Given the description of an element on the screen output the (x, y) to click on. 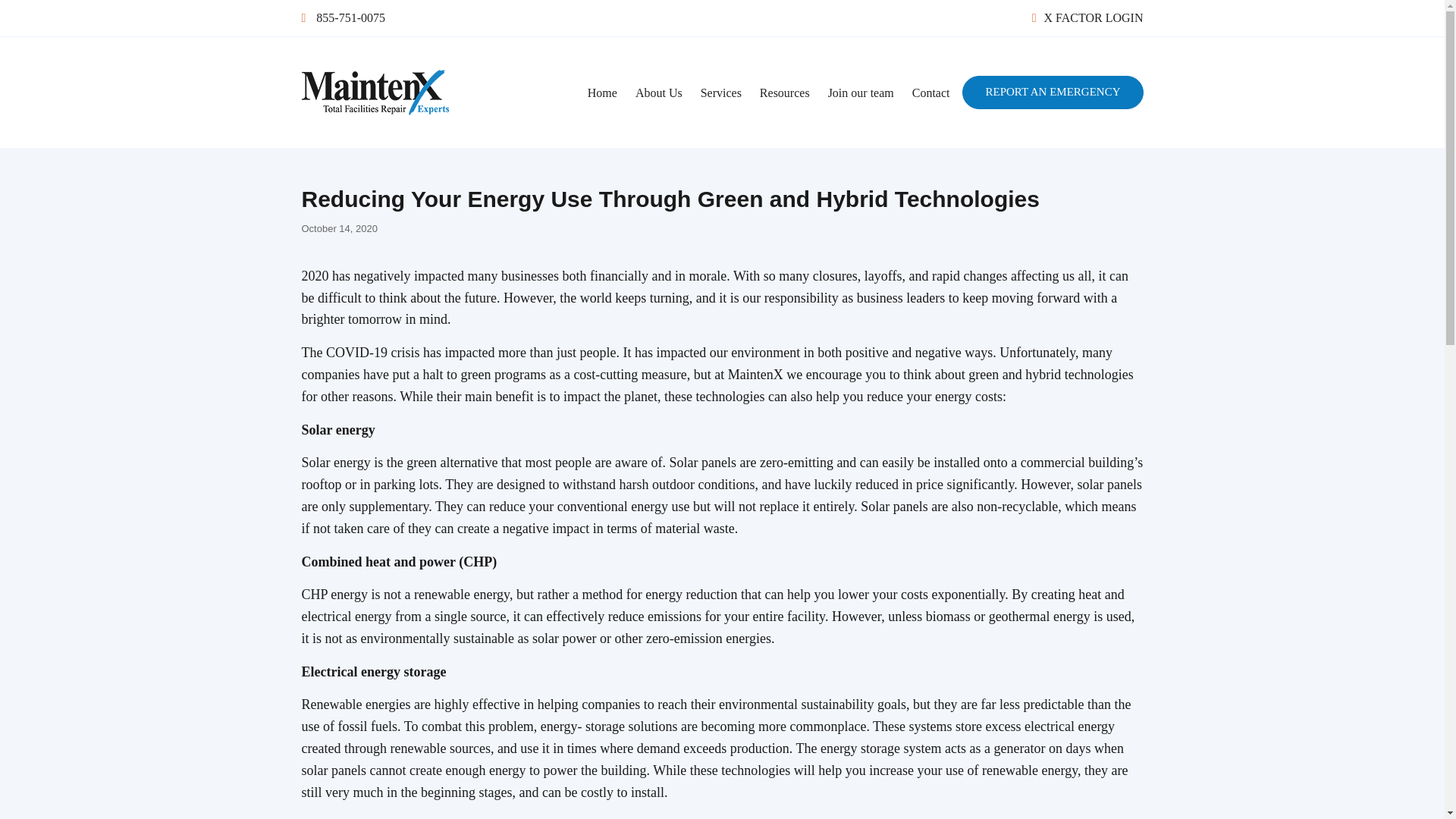
Services (721, 92)
855-751-0075 (343, 17)
Maintenx (347, 138)
Join our team (860, 92)
X FACTOR LOGIN (1087, 17)
October 14, 2020 (339, 228)
REPORT AN EMERGENCY (1052, 92)
Contact (930, 92)
Resources (784, 92)
Home (602, 92)
